Given the description of an element on the screen output the (x, y) to click on. 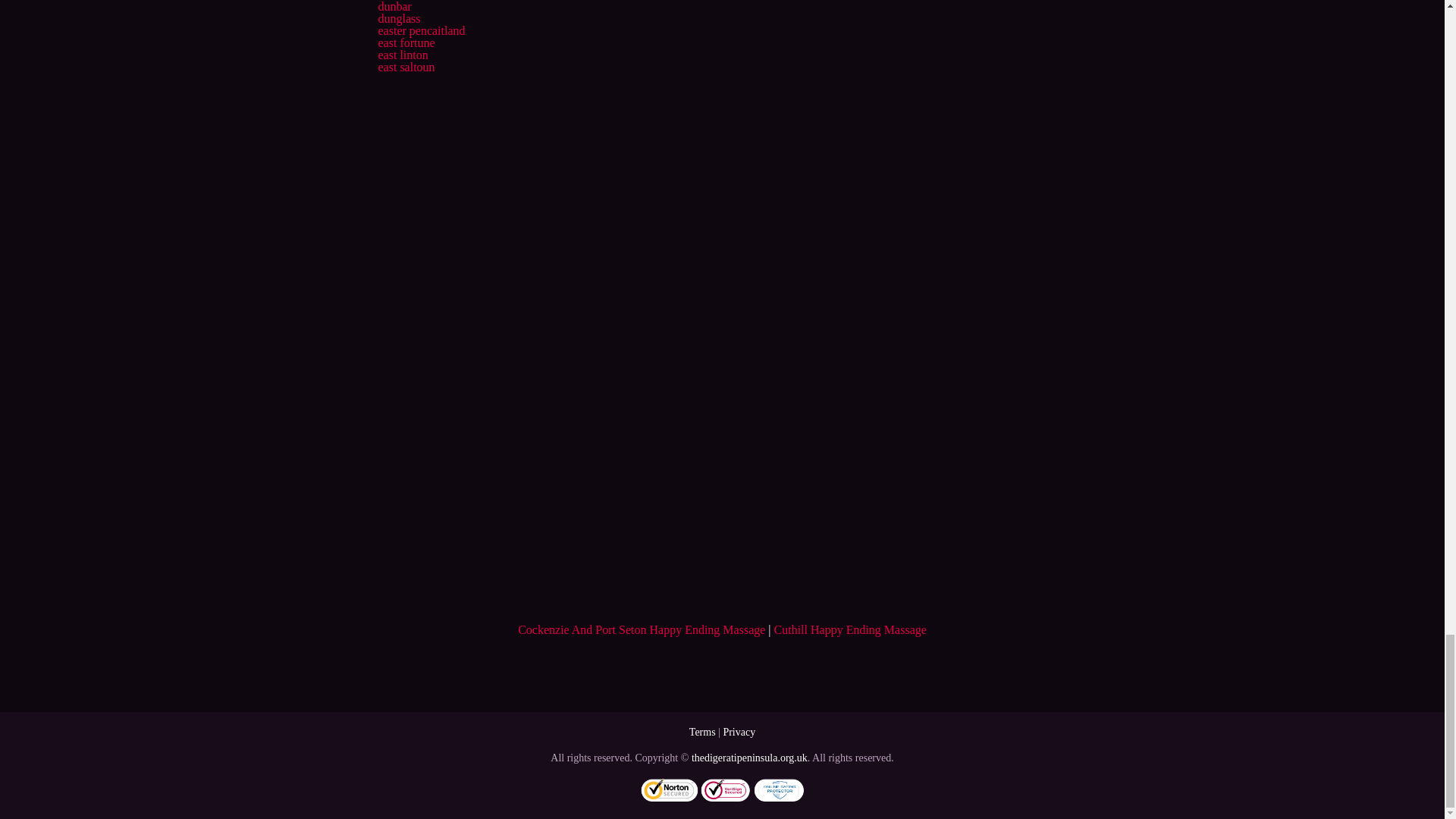
Cockenzie And Port Seton Happy Ending Massage (641, 629)
Terms (702, 731)
easter pencaitland (420, 30)
dunbar (393, 6)
dunglass (398, 18)
thedigeratipeninsula.org.uk (749, 757)
Terms (702, 731)
Cuthill Happy Ending Massage (850, 629)
Privacy (738, 731)
Privacy (738, 731)
east linton (402, 54)
east saltoun (405, 66)
east fortune (405, 42)
